Given the description of an element on the screen output the (x, y) to click on. 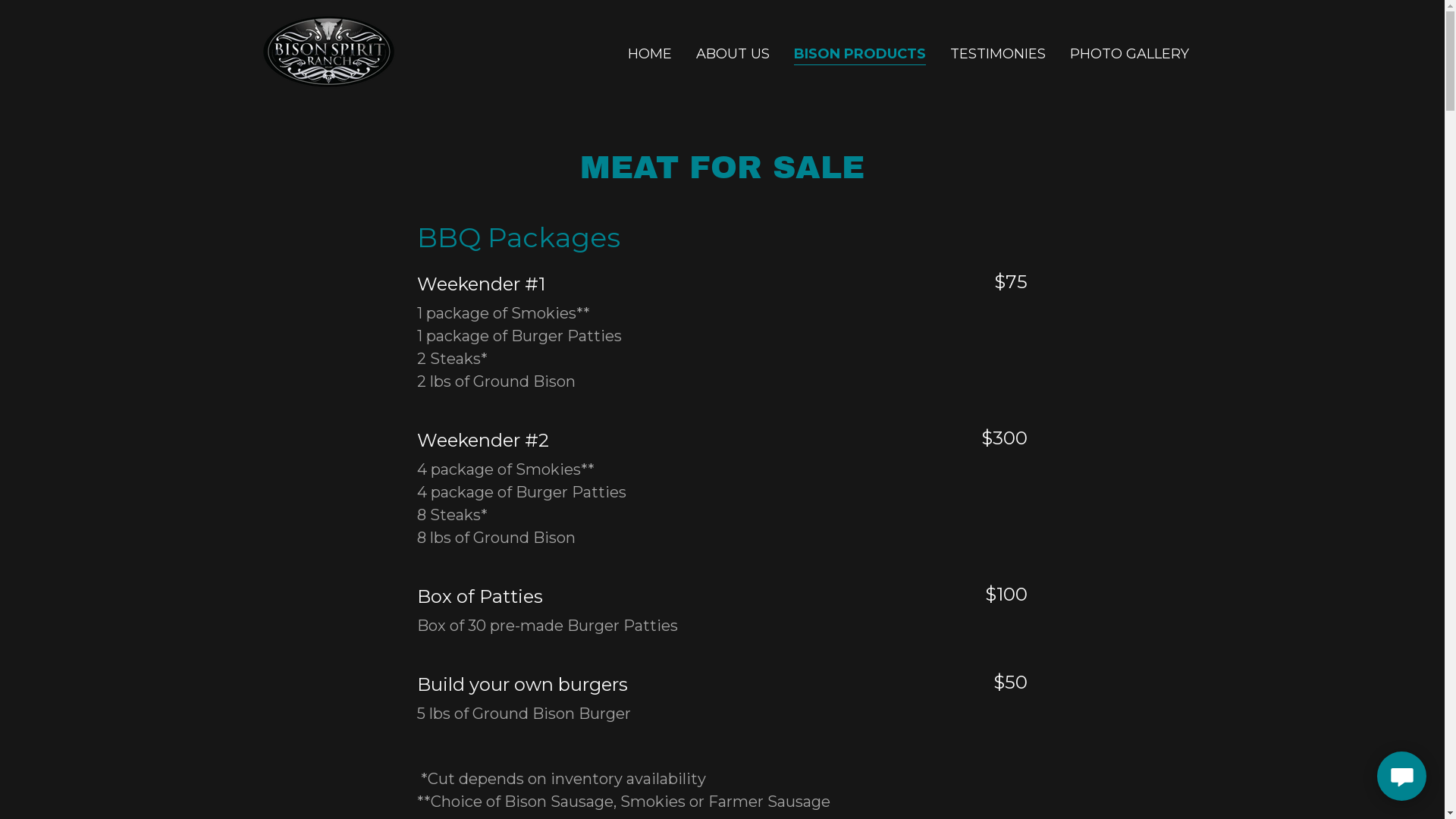
ABOUT US Element type: text (732, 52)
BISON PRODUCTS Element type: text (859, 53)
PHOTO GALLERY Element type: text (1129, 52)
HOME Element type: text (649, 52)
TESTIMONIES Element type: text (997, 52)
Bison Spirit Ranch Element type: hover (327, 50)
